Given the description of an element on the screen output the (x, y) to click on. 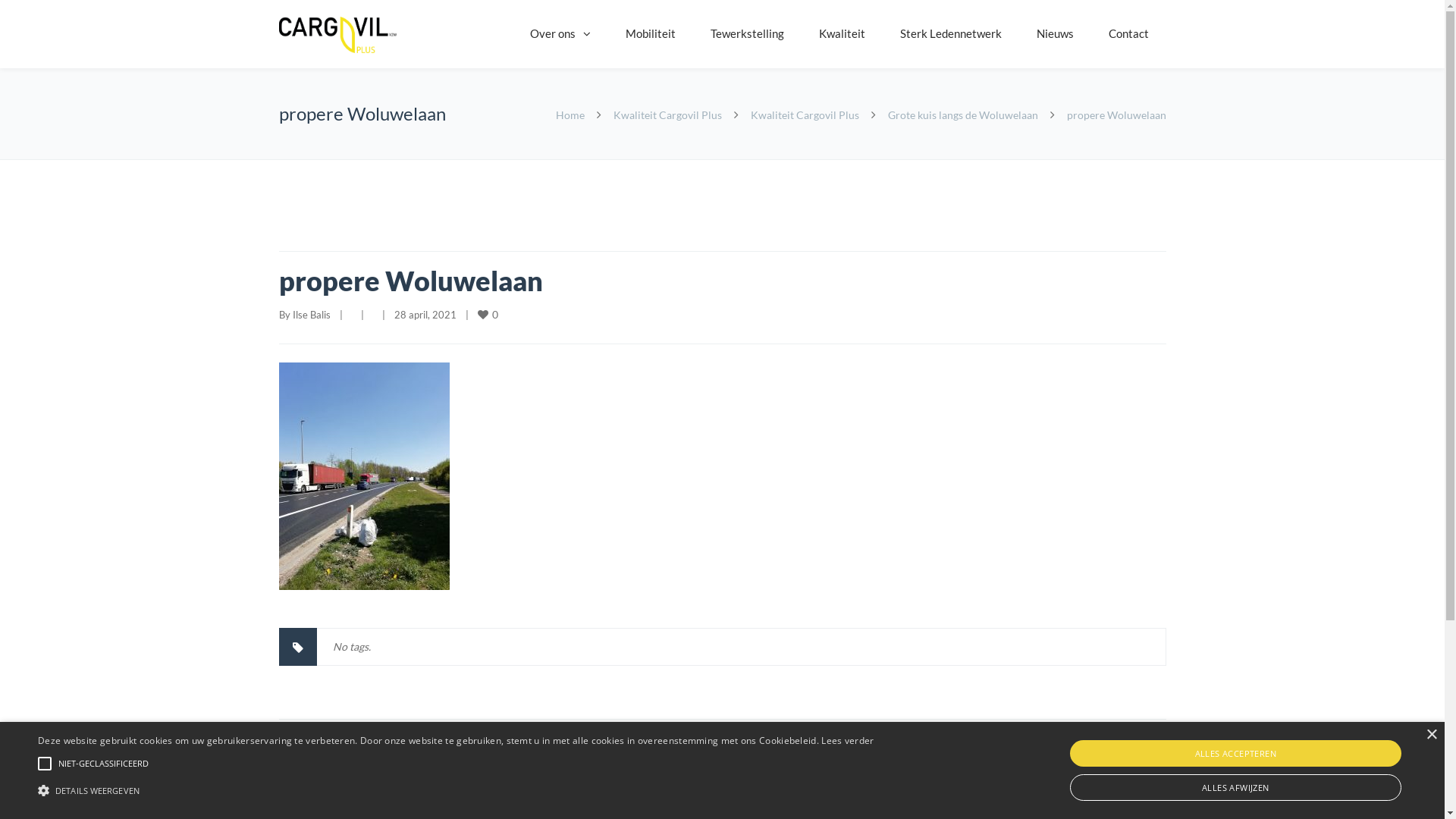
Nieuws Element type: text (1055, 34)
Tewerkstelling Element type: text (747, 34)
Kwaliteit Cargovil Plus Element type: text (666, 114)
0  Element type: text (488, 313)
Contact Element type: text (1127, 34)
Sterk Ledennetwerk Element type: text (950, 34)
Over ons Element type: text (560, 34)
Grote kuis langs de Woluwelaan Element type: text (962, 114)
Kwaliteit Element type: text (840, 34)
Cargovil vzw Element type: hover (337, 34)
Ilse Balis Element type: text (311, 314)
Home Element type: text (569, 114)
Kwaliteit Cargovil Plus Element type: text (804, 114)
Lees verder Element type: text (847, 740)
propere Woluwelaan Element type: text (410, 280)
Mobiliteit Element type: text (650, 34)
